Given the description of an element on the screen output the (x, y) to click on. 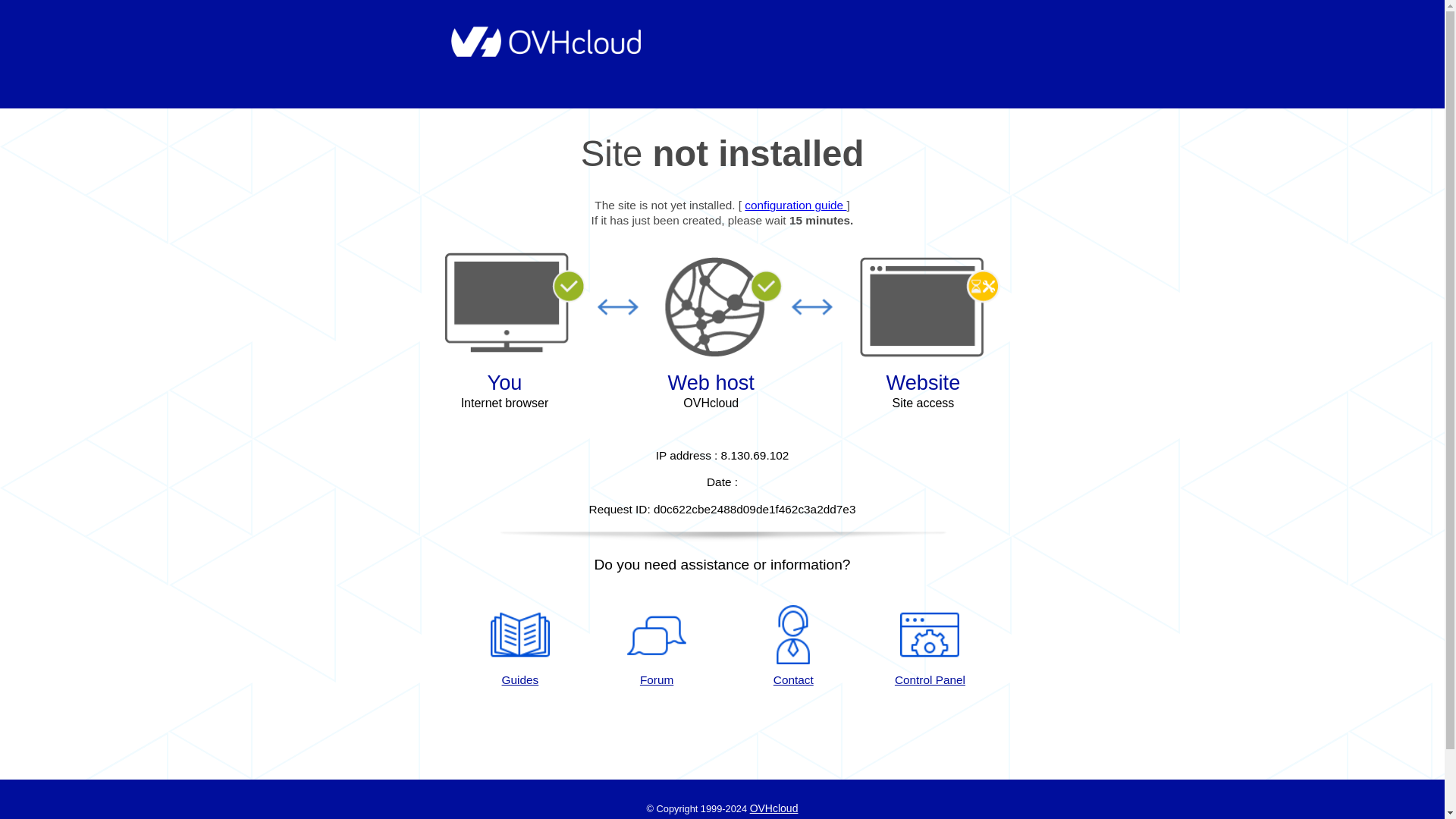
Contact (793, 646)
configuration guide (794, 205)
Guides (519, 646)
Contact (793, 646)
Guides (794, 205)
Control Panel (930, 646)
Forum (656, 646)
Control Panel (930, 646)
Forum (656, 646)
OVHcloud (773, 808)
